Given the description of an element on the screen output the (x, y) to click on. 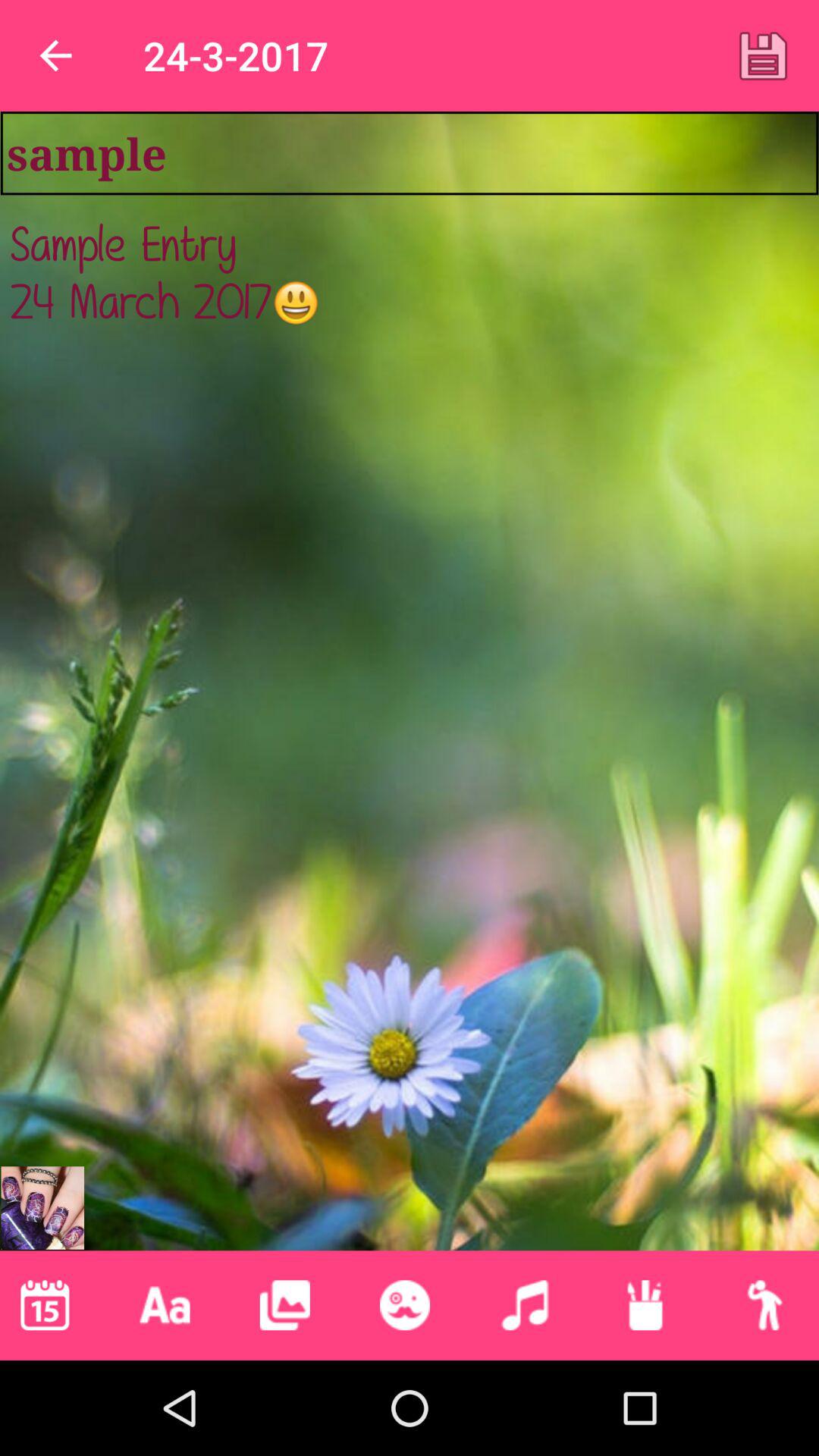
displays more pictures (284, 1305)
